Given the description of an element on the screen output the (x, y) to click on. 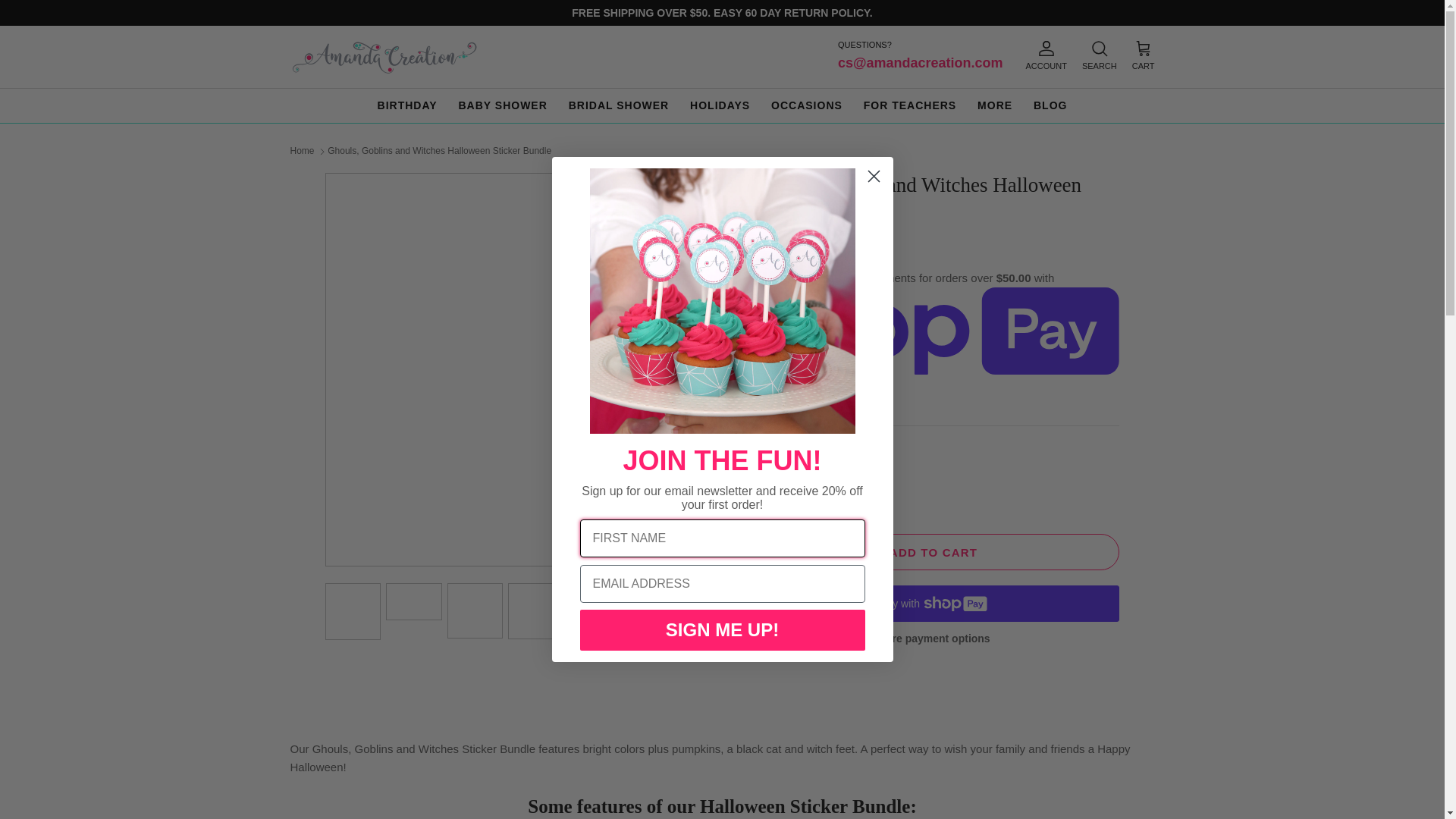
Close dialog 1 (873, 175)
Plus (853, 485)
BIRTHDAY (407, 105)
BABY SHOWER (502, 105)
RIGHT (697, 369)
Minus (765, 485)
Amanda Creation (384, 56)
SEARCH (1098, 56)
ACCOUNT (1046, 56)
CART (1143, 56)
1 (810, 484)
